Given the description of an element on the screen output the (x, y) to click on. 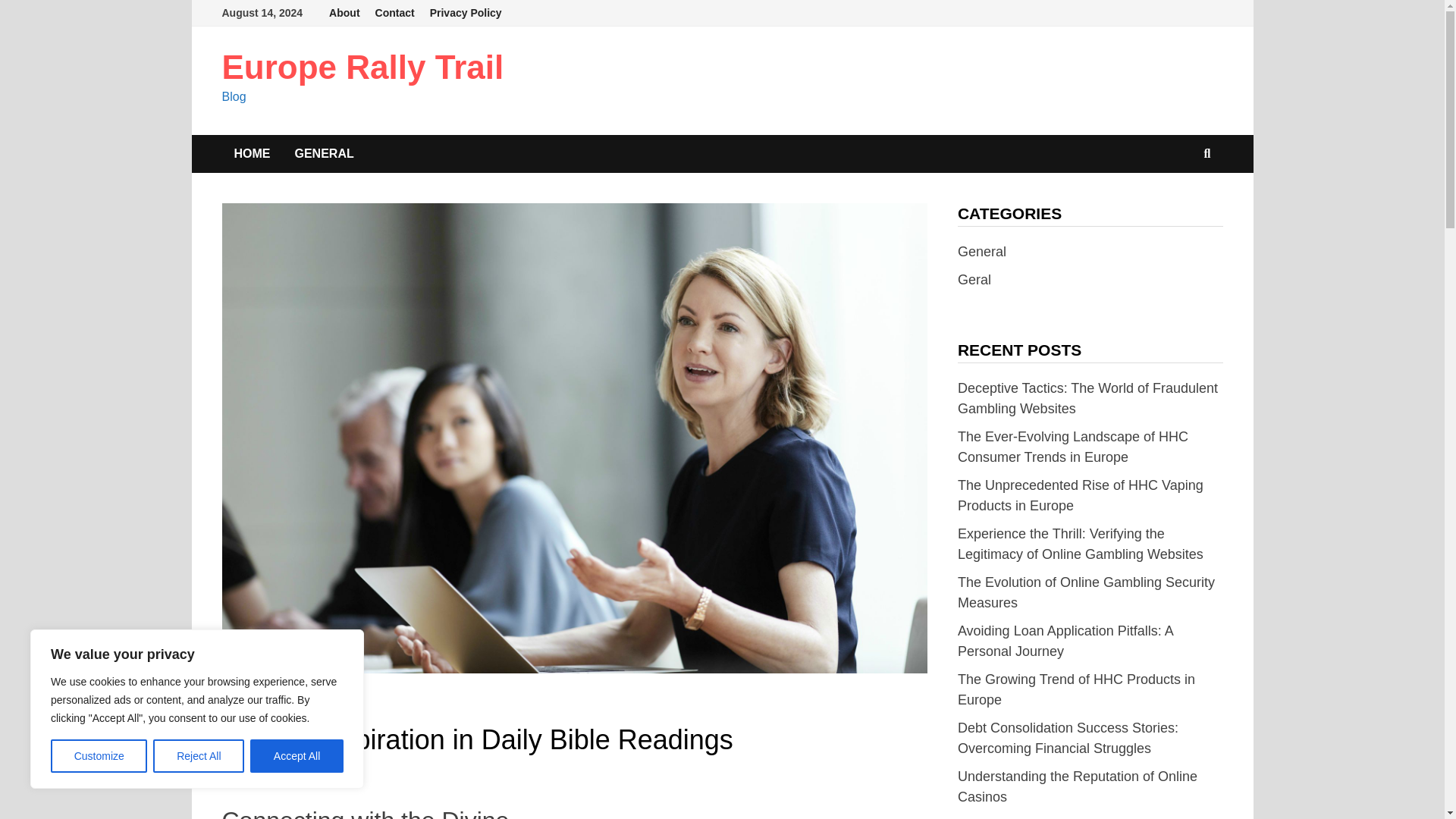
Privacy Policy (465, 13)
GENERAL (247, 706)
About (343, 13)
Europe Rally Trail (362, 66)
Reject All (198, 756)
Contact (395, 13)
Customize (98, 756)
GENERAL (323, 153)
Accept All (296, 756)
HOME (251, 153)
